Given the description of an element on the screen output the (x, y) to click on. 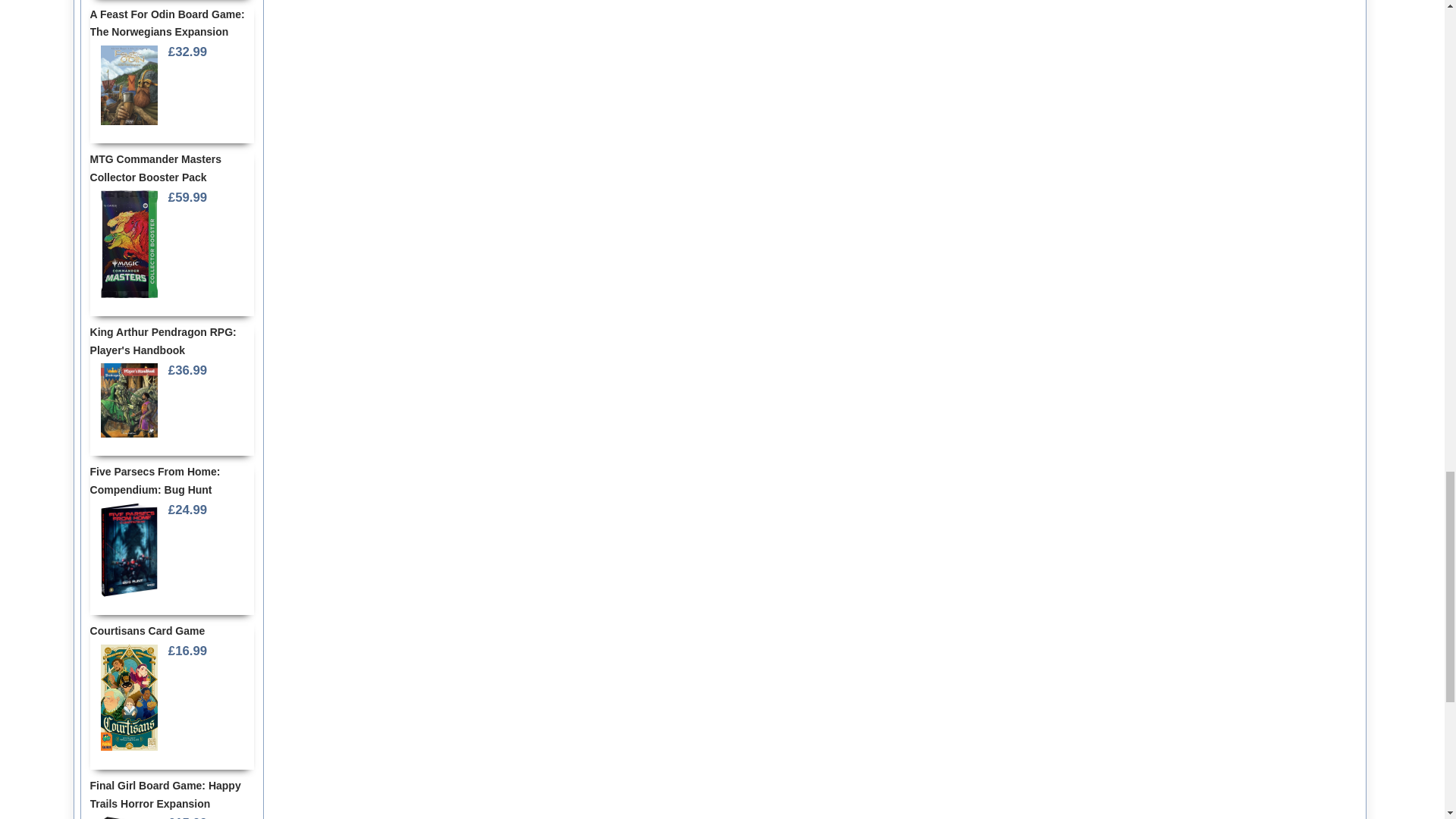
A Feast For Odin Board Game: The Norwegians Expansion (128, 84)
Five Parsecs From Home: Compendium: Bug Hunt (128, 549)
King Arthur Pendragon RPG: Player's Handbook (128, 400)
MTG Commander Masters Collector Booster Pack (128, 244)
